Given the description of an element on the screen output the (x, y) to click on. 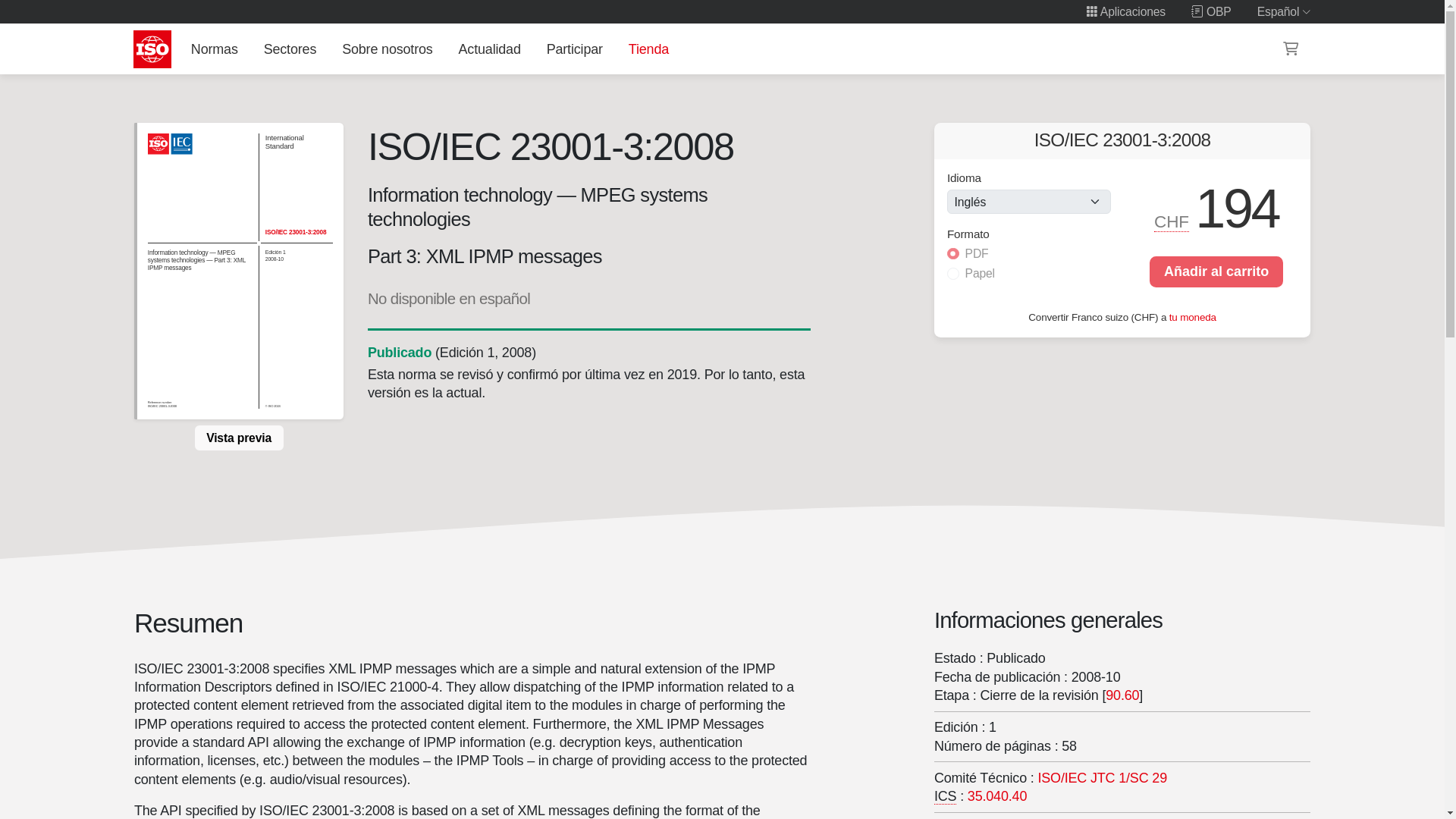
Participar (574, 48)
Francos suizos (1171, 221)
Ciclo de vida (398, 352)
Actualidad (489, 48)
 OBP (1211, 11)
Publicado (398, 352)
35.040.40 (997, 795)
Tienda (648, 48)
Carro de la compra (1290, 49)
90.60 (1123, 694)
